Given the description of an element on the screen output the (x, y) to click on. 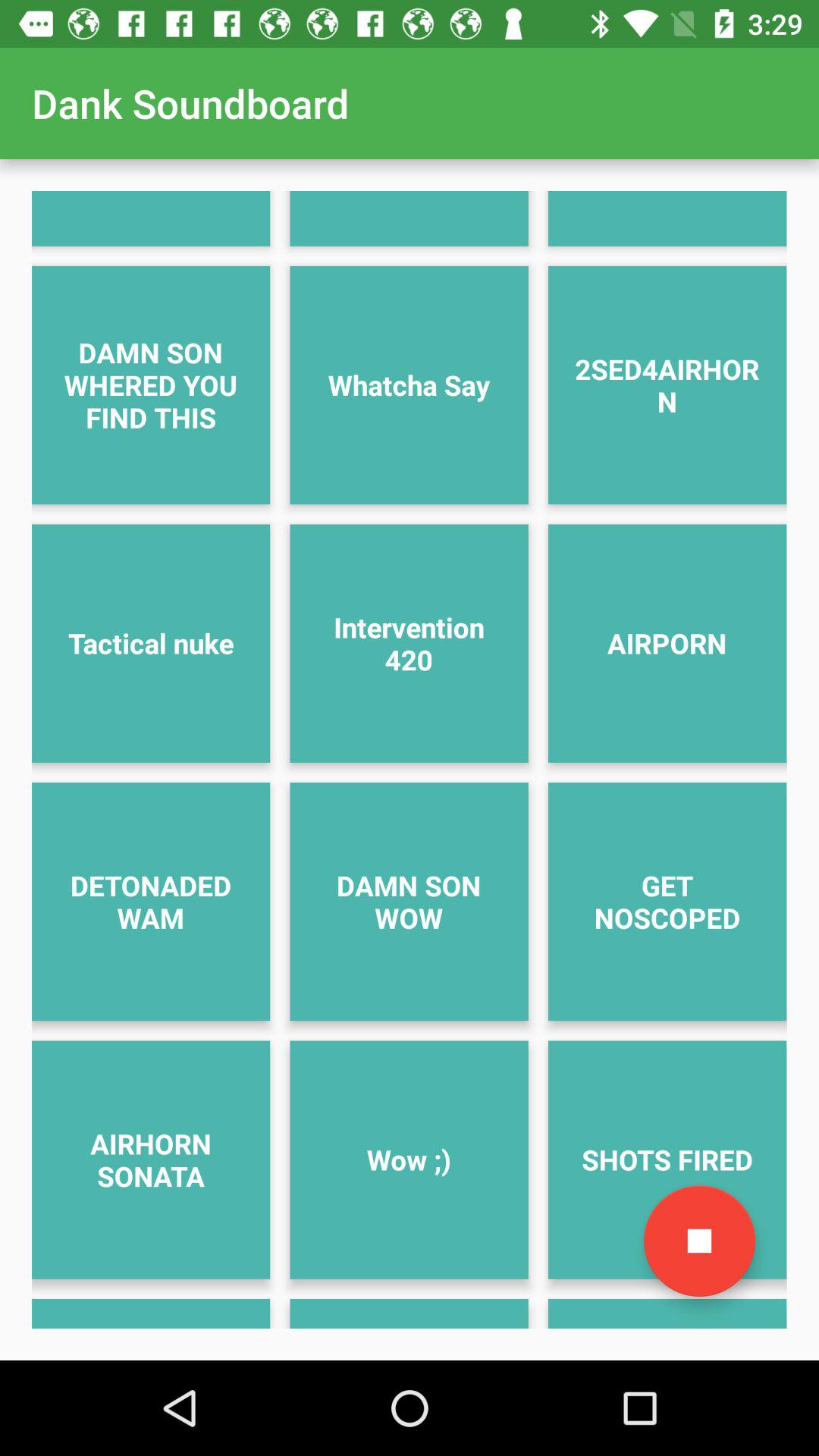
stop sound (699, 1240)
